Given the description of an element on the screen output the (x, y) to click on. 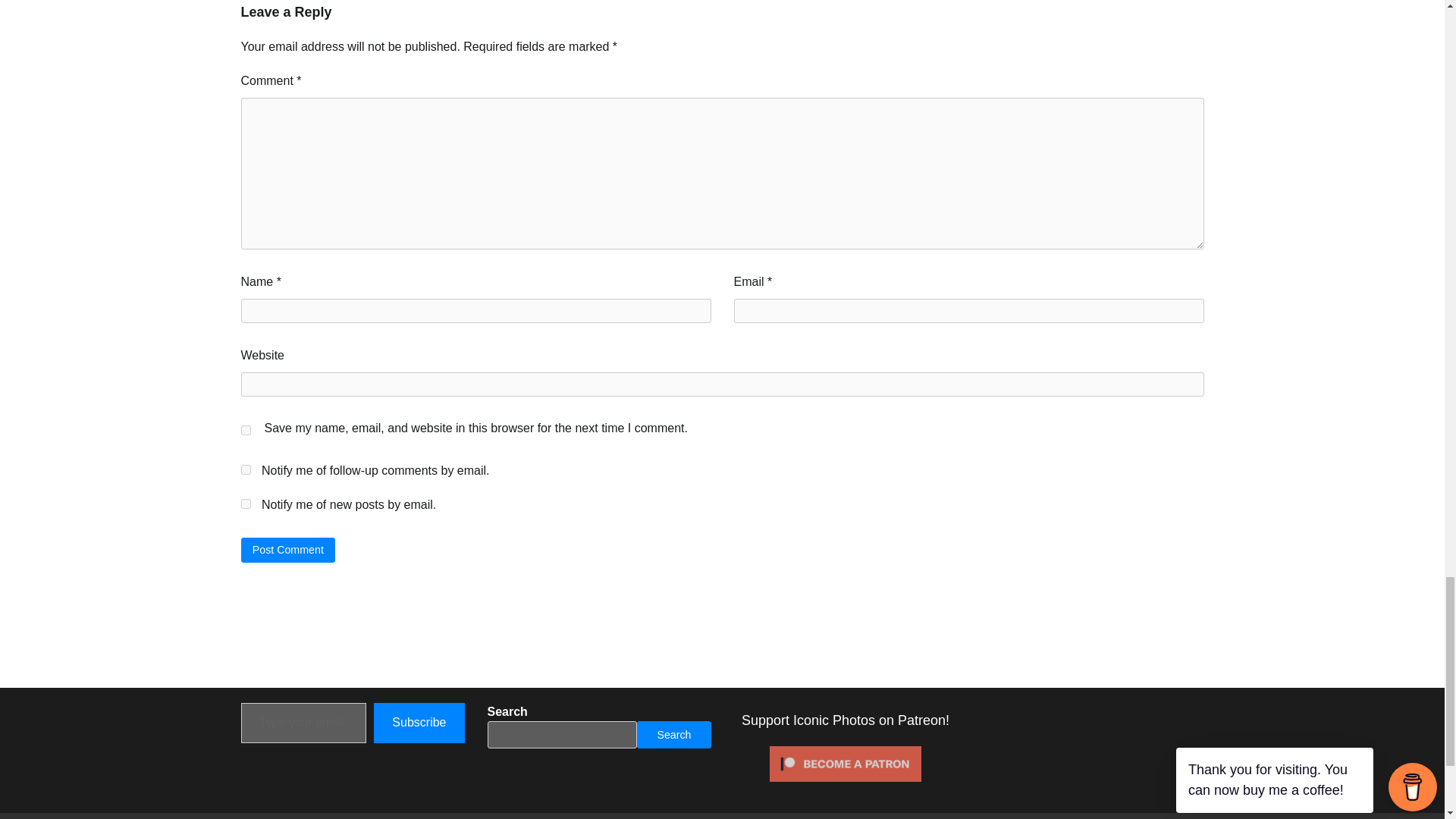
Post Comment (288, 549)
yes (245, 429)
Post Comment (288, 549)
Search (673, 734)
Subscribe (419, 722)
subscribe (245, 503)
subscribe (245, 470)
